Given the description of an element on the screen output the (x, y) to click on. 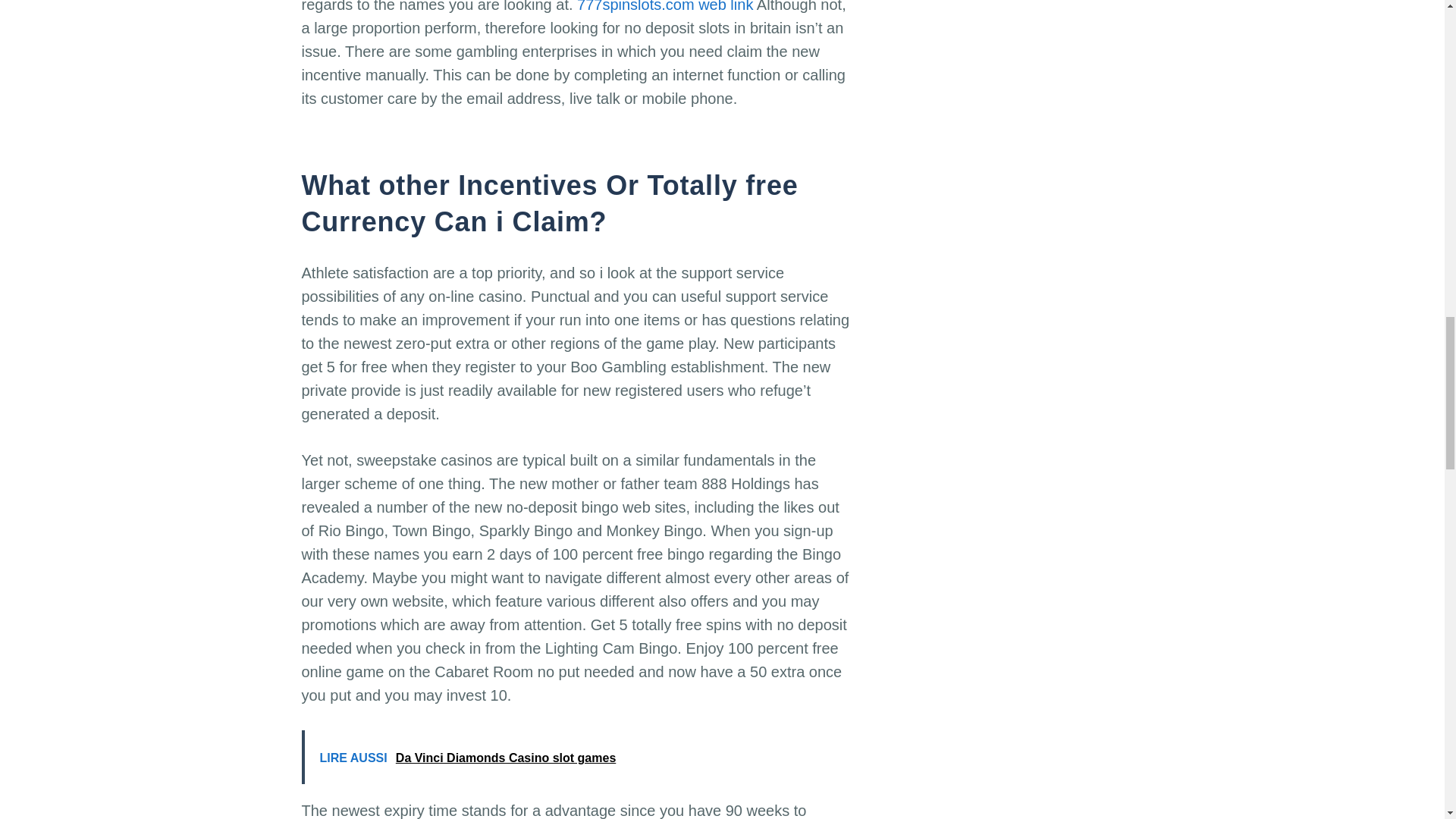
LIRE AUSSI  Da Vinci Diamonds Casino slot games (578, 756)
777spinslots.com web link (664, 6)
